Given the description of an element on the screen output the (x, y) to click on. 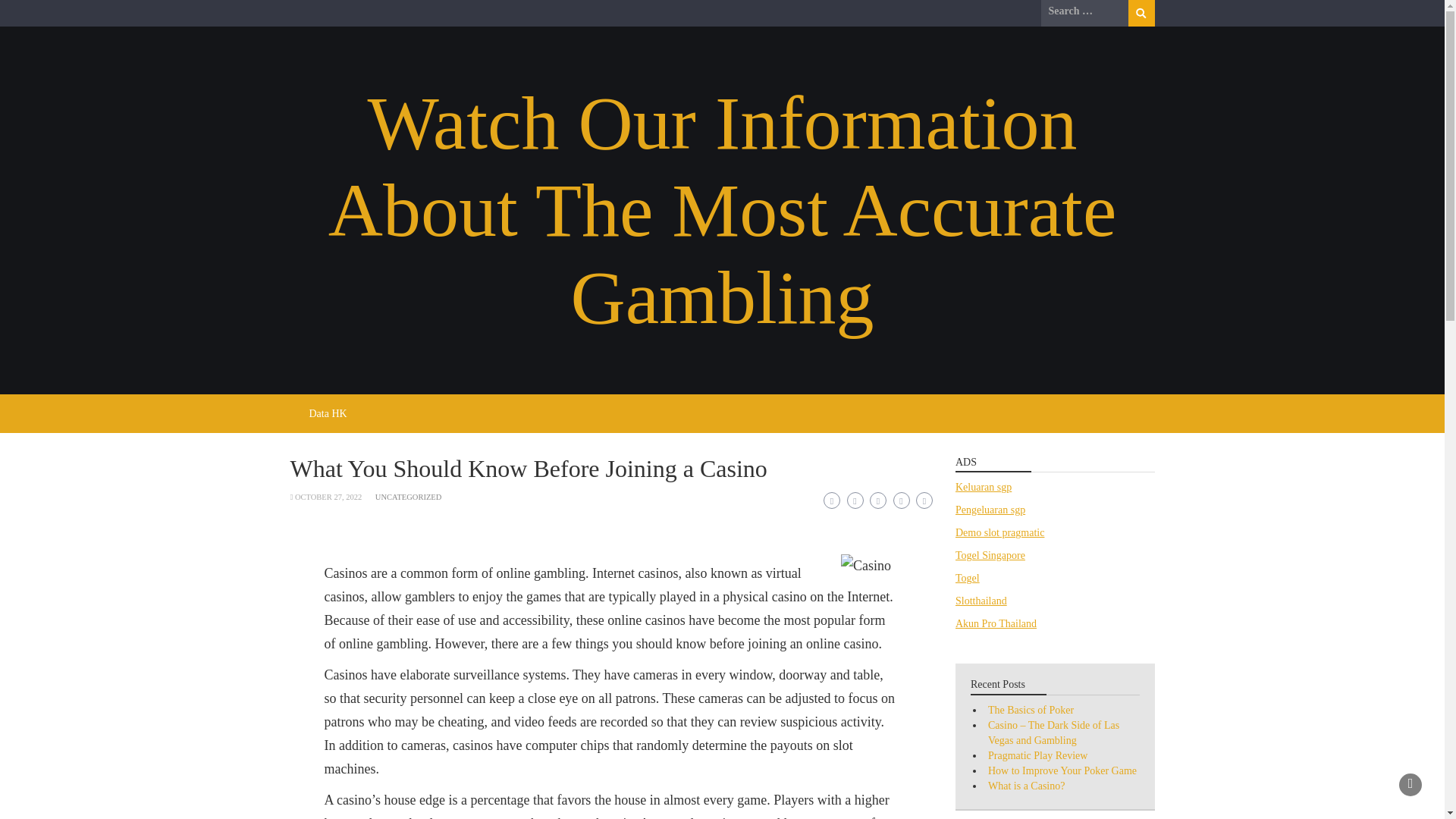
Search (1141, 13)
Togel (967, 577)
Togel Singapore (990, 555)
Demo slot pragmatic (999, 532)
Slotthailand (981, 600)
Search (1141, 13)
Keluaran sgp (983, 487)
OCTOBER 27, 2022 (328, 497)
The Basics of Poker (1031, 709)
